Given the description of an element on the screen output the (x, y) to click on. 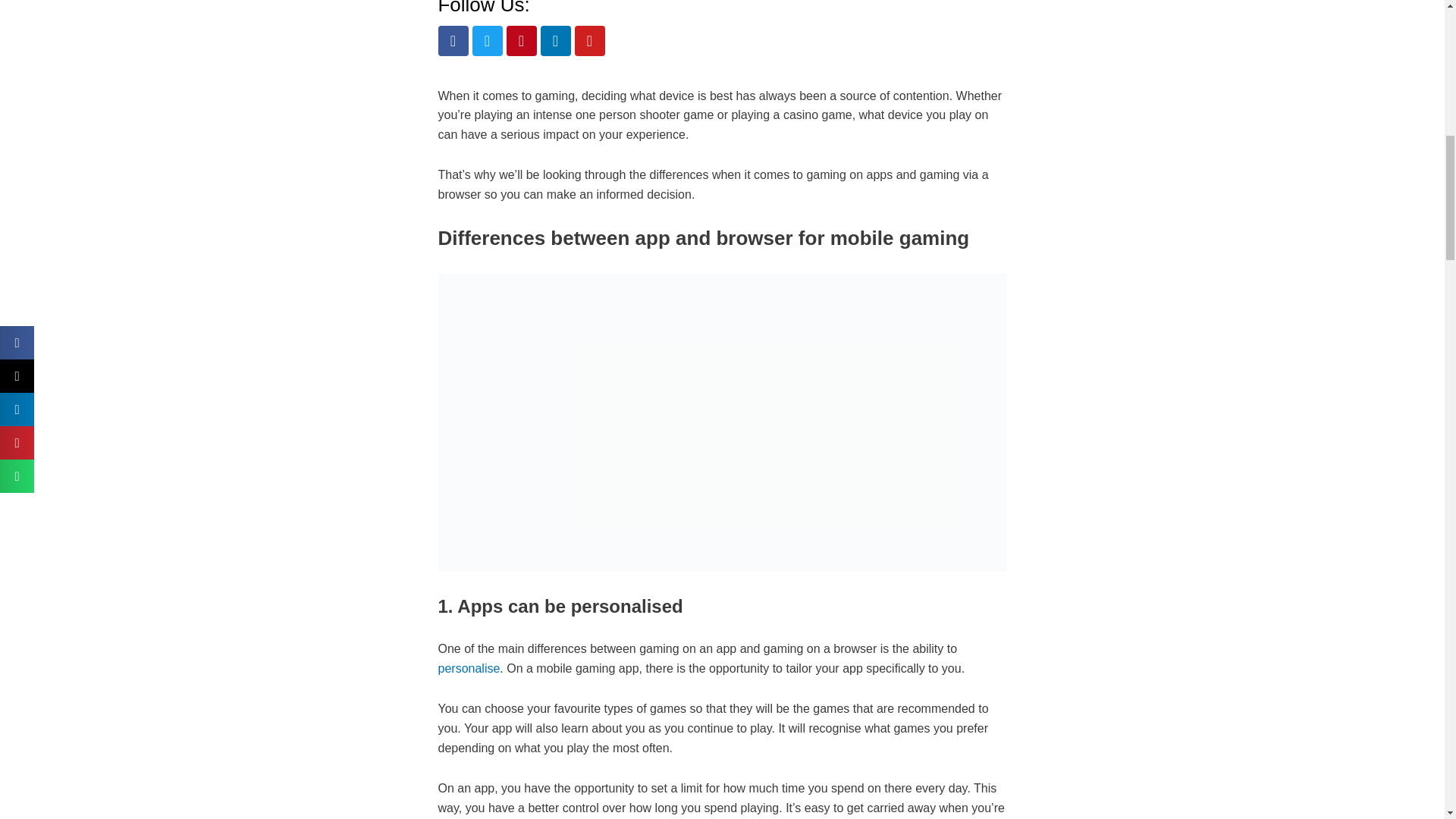
Linkedin (555, 40)
Youtube (590, 40)
Facebook (453, 40)
personalise (469, 667)
Twitter (486, 40)
Pinterest (521, 40)
